Given the description of an element on the screen output the (x, y) to click on. 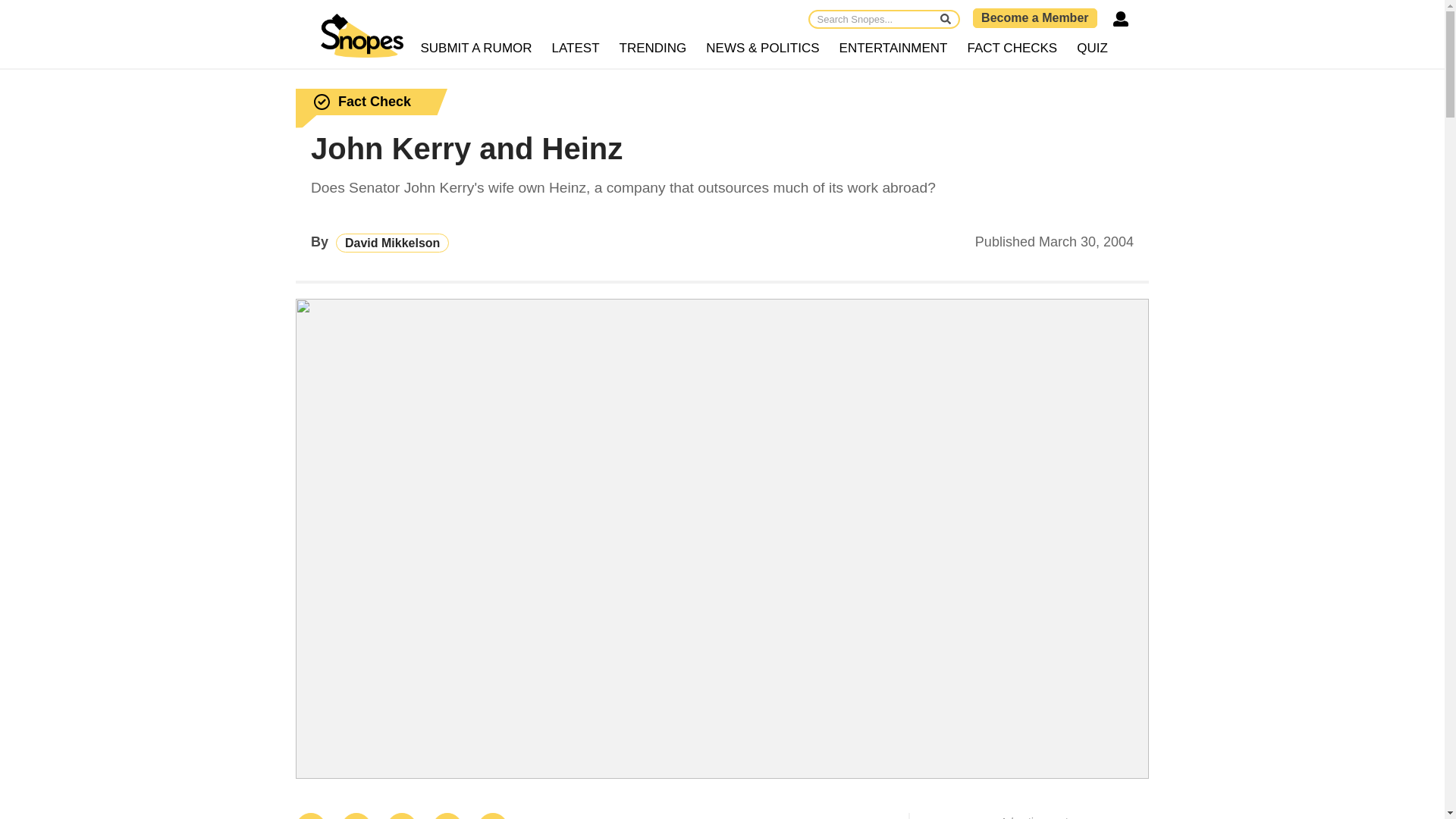
QUIZ (1092, 47)
SUBMIT A RUMOR (475, 47)
TRENDING (653, 47)
LATEST (576, 47)
Become a Member (1034, 17)
ENTERTAINMENT (893, 47)
FACT CHECKS (1011, 47)
David Mikkelson (392, 242)
